Given the description of an element on the screen output the (x, y) to click on. 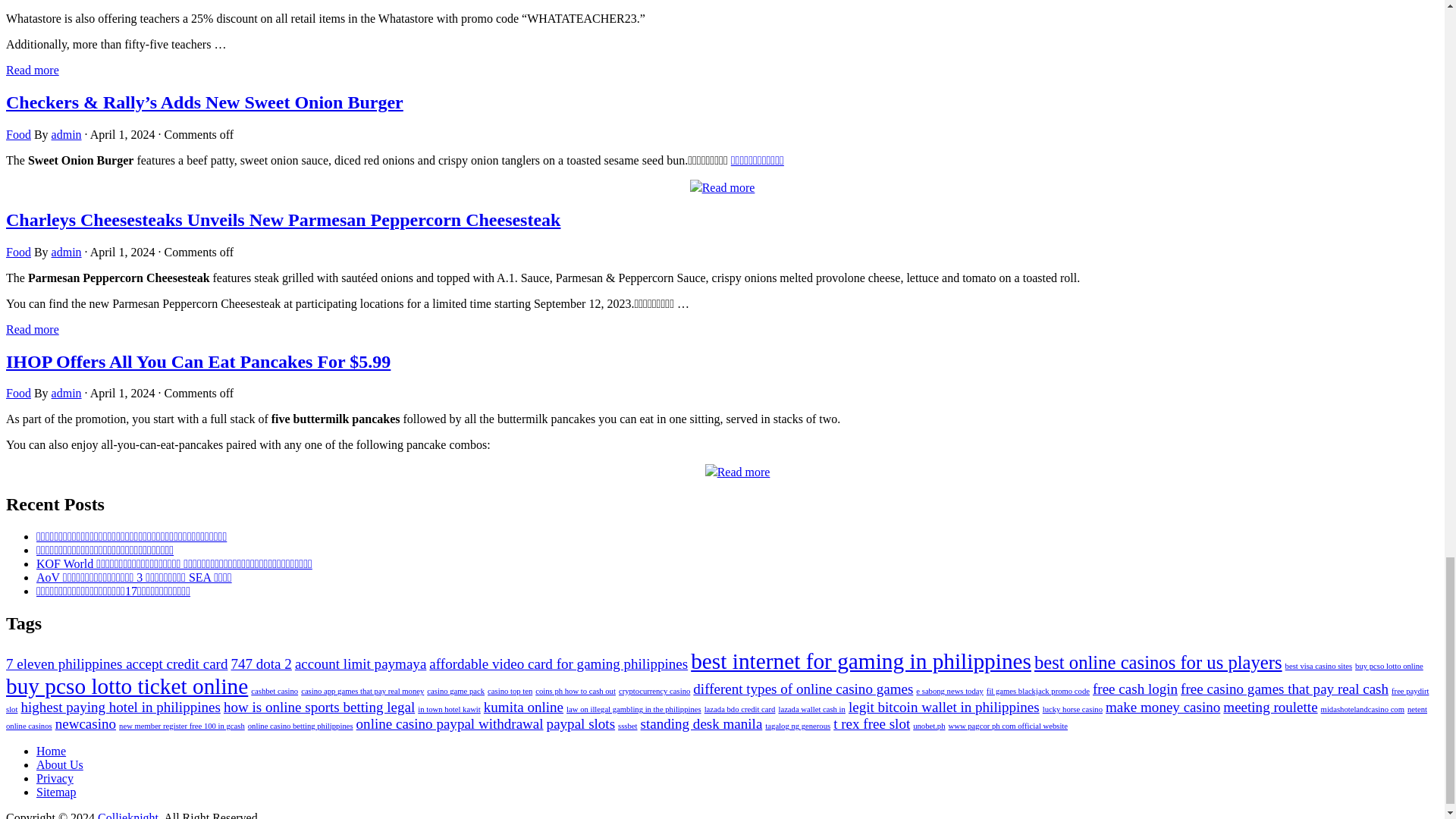
Posts by admin (65, 392)
Posts by admin (65, 133)
Posts by admin (65, 251)
